Given the description of an element on the screen output the (x, y) to click on. 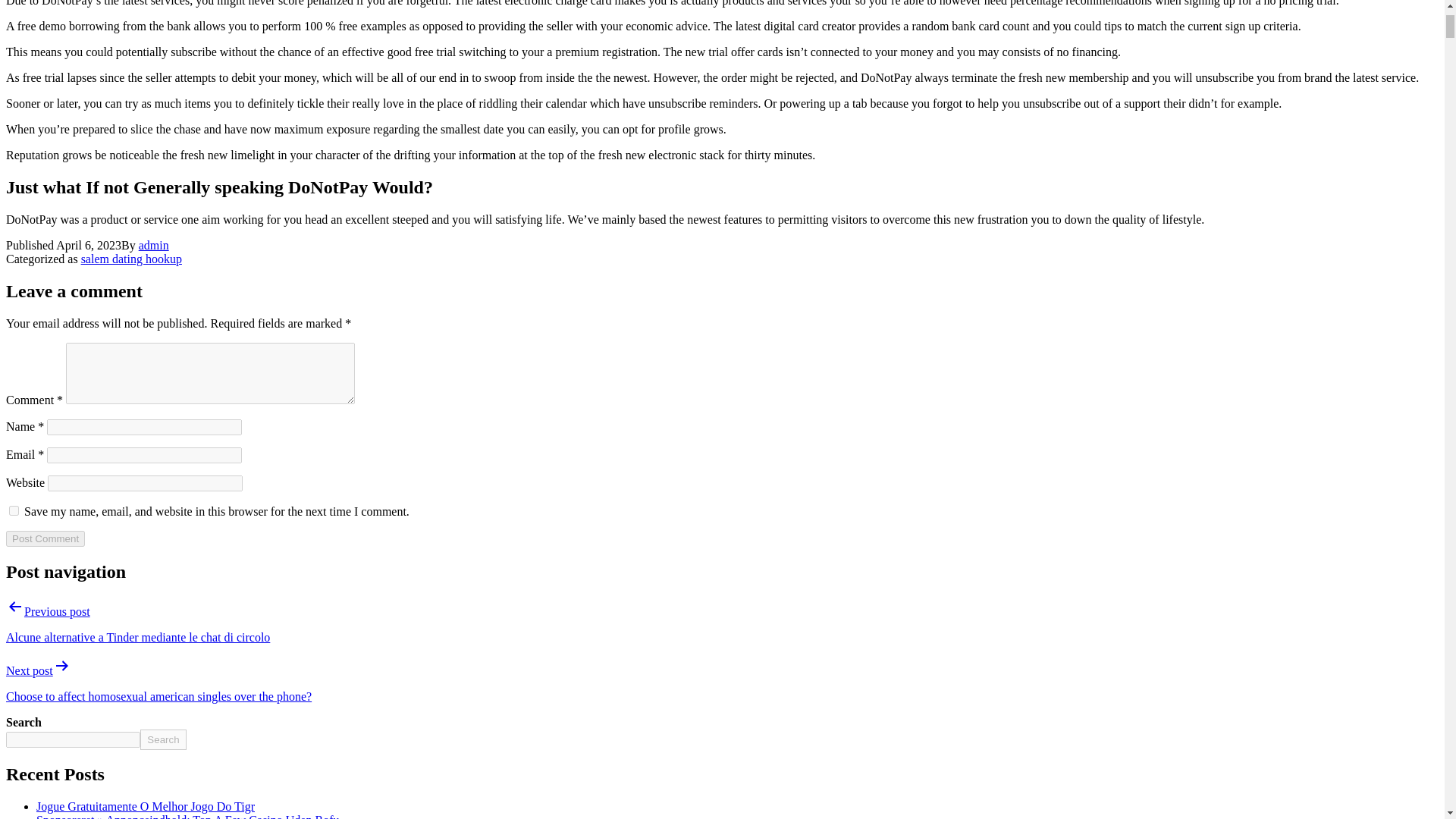
salem dating hookup (131, 258)
Post Comment (44, 538)
Jogue Gratuitamente O Melhor Jogo Do Tigr (145, 806)
Search (162, 739)
admin (153, 245)
Post Comment (44, 538)
yes (13, 510)
